Given the description of an element on the screen output the (x, y) to click on. 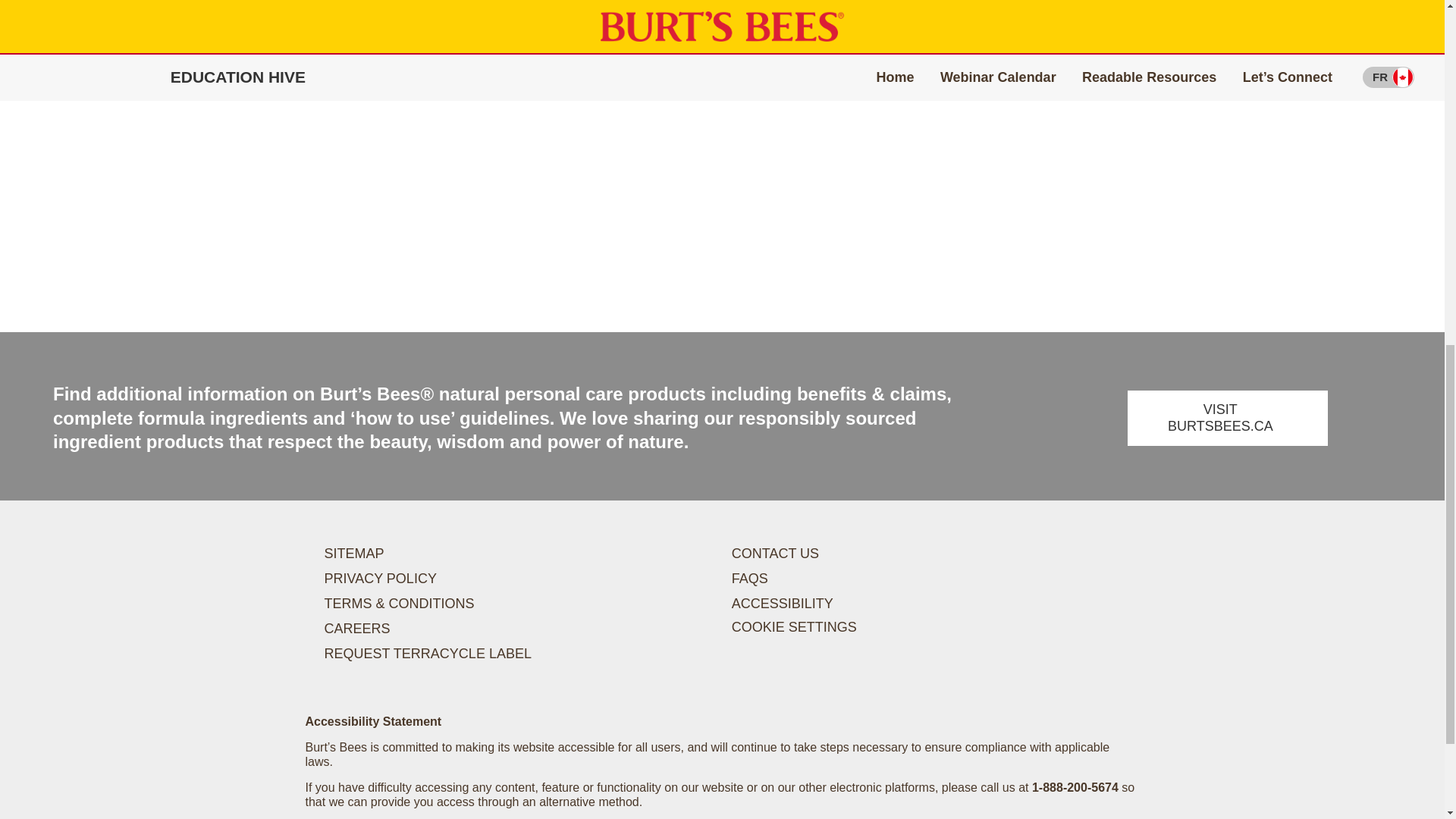
VISIT BURTSBEES.CA (1226, 418)
SHOW ALL (109, 85)
FAQS (750, 578)
Facebook (1054, 534)
COOKIE SETTINGS (794, 627)
Instagram (1085, 534)
PRIVACY POLICY (380, 578)
ACCESSIBILITY (782, 603)
REQUEST TERRACYCLE LABEL (427, 653)
CAREERS (357, 628)
